Given the description of an element on the screen output the (x, y) to click on. 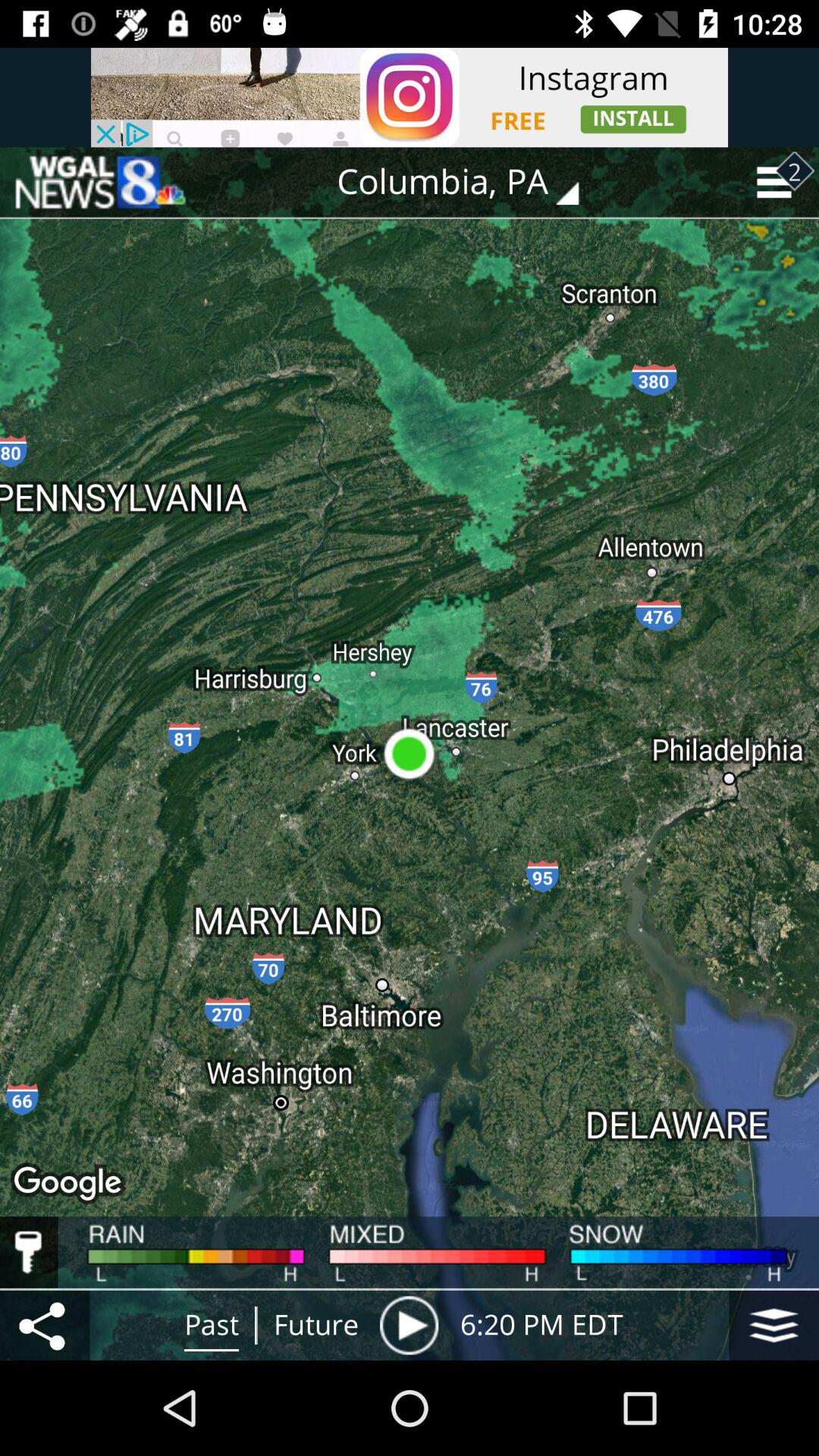
show weather map keys (29, 1252)
